Given the description of an element on the screen output the (x, y) to click on. 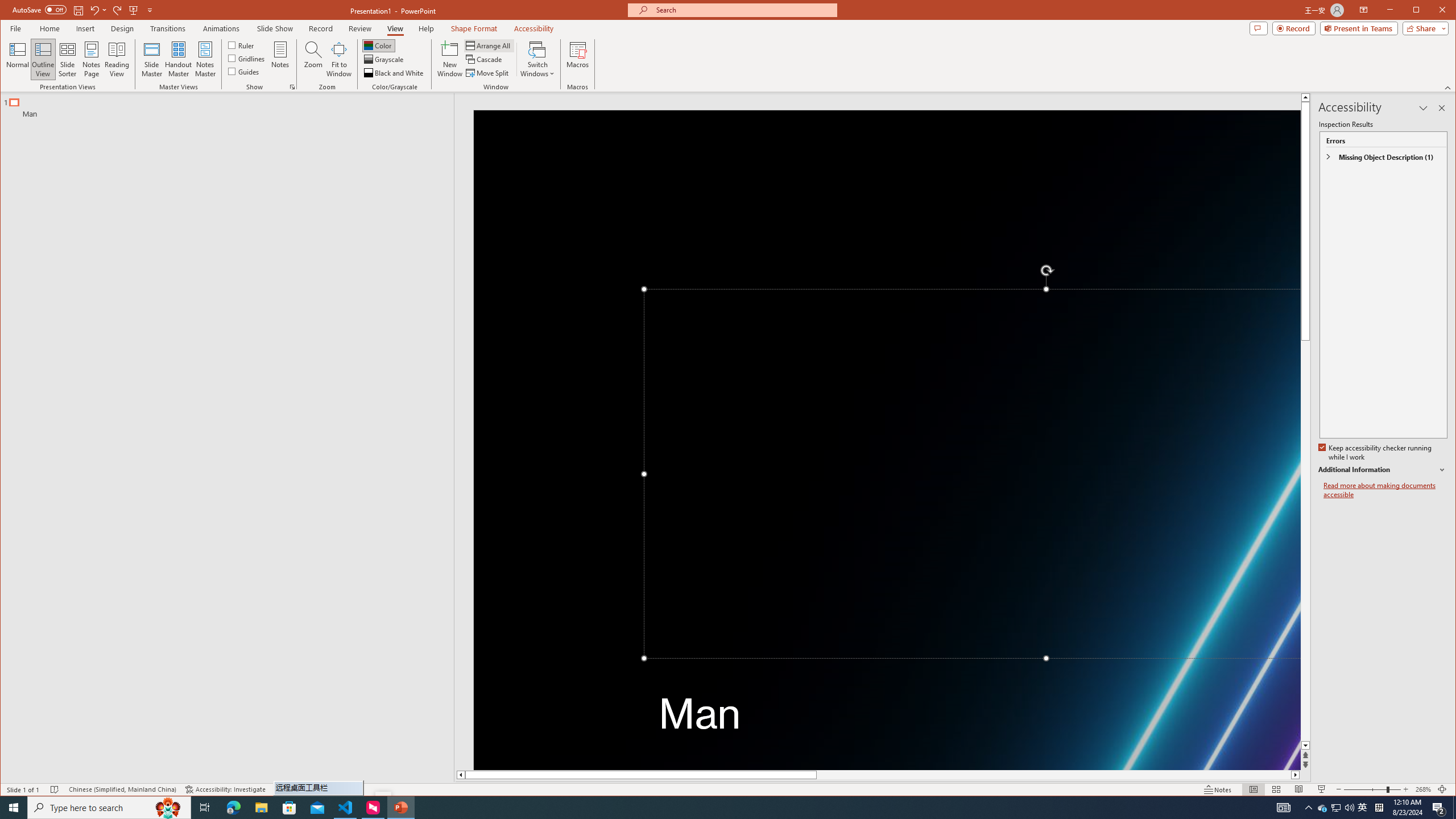
Guides (243, 70)
Outline View (42, 59)
